Given the description of an element on the screen output the (x, y) to click on. 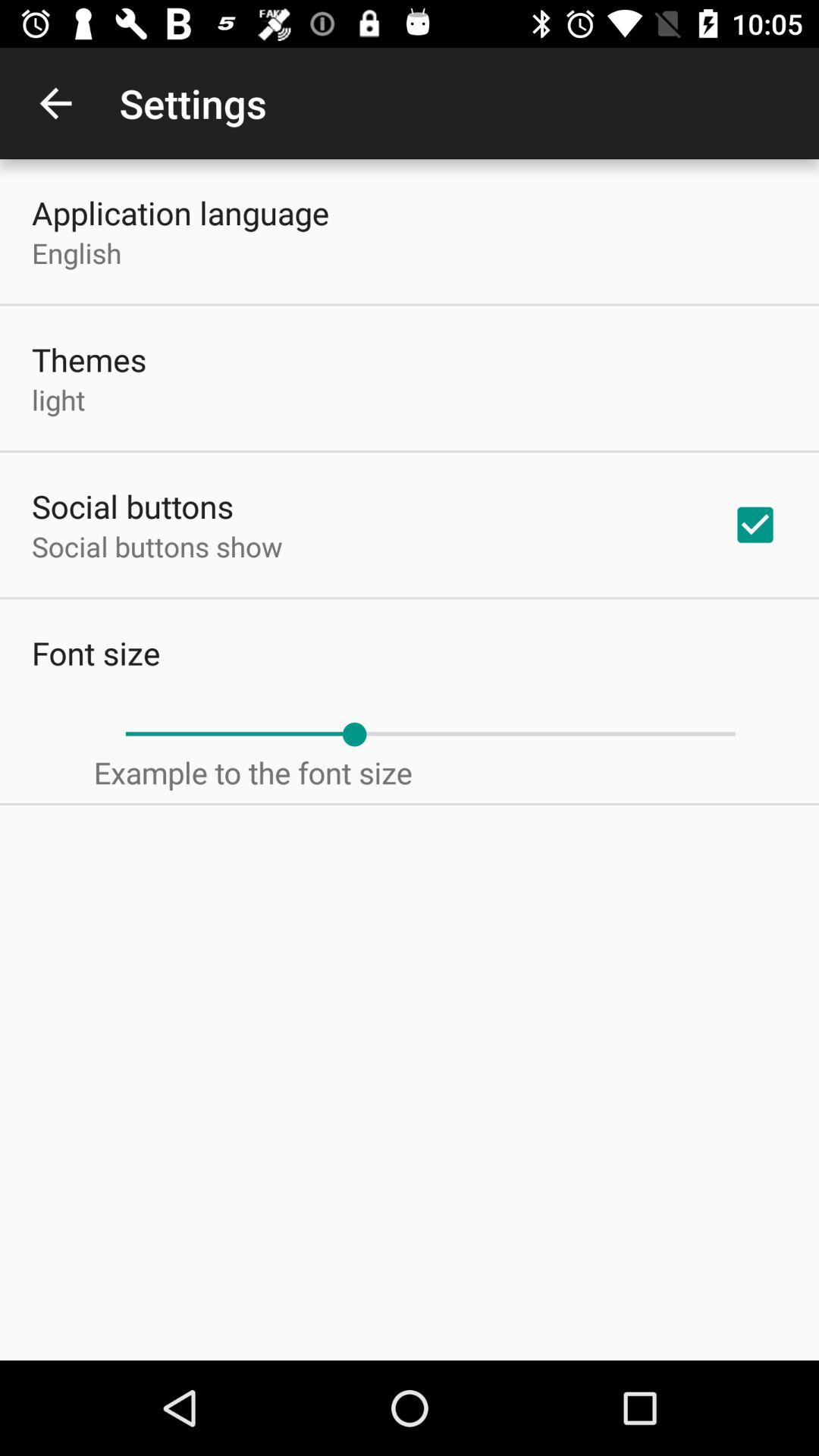
scroll to the light item (58, 399)
